Given the description of an element on the screen output the (x, y) to click on. 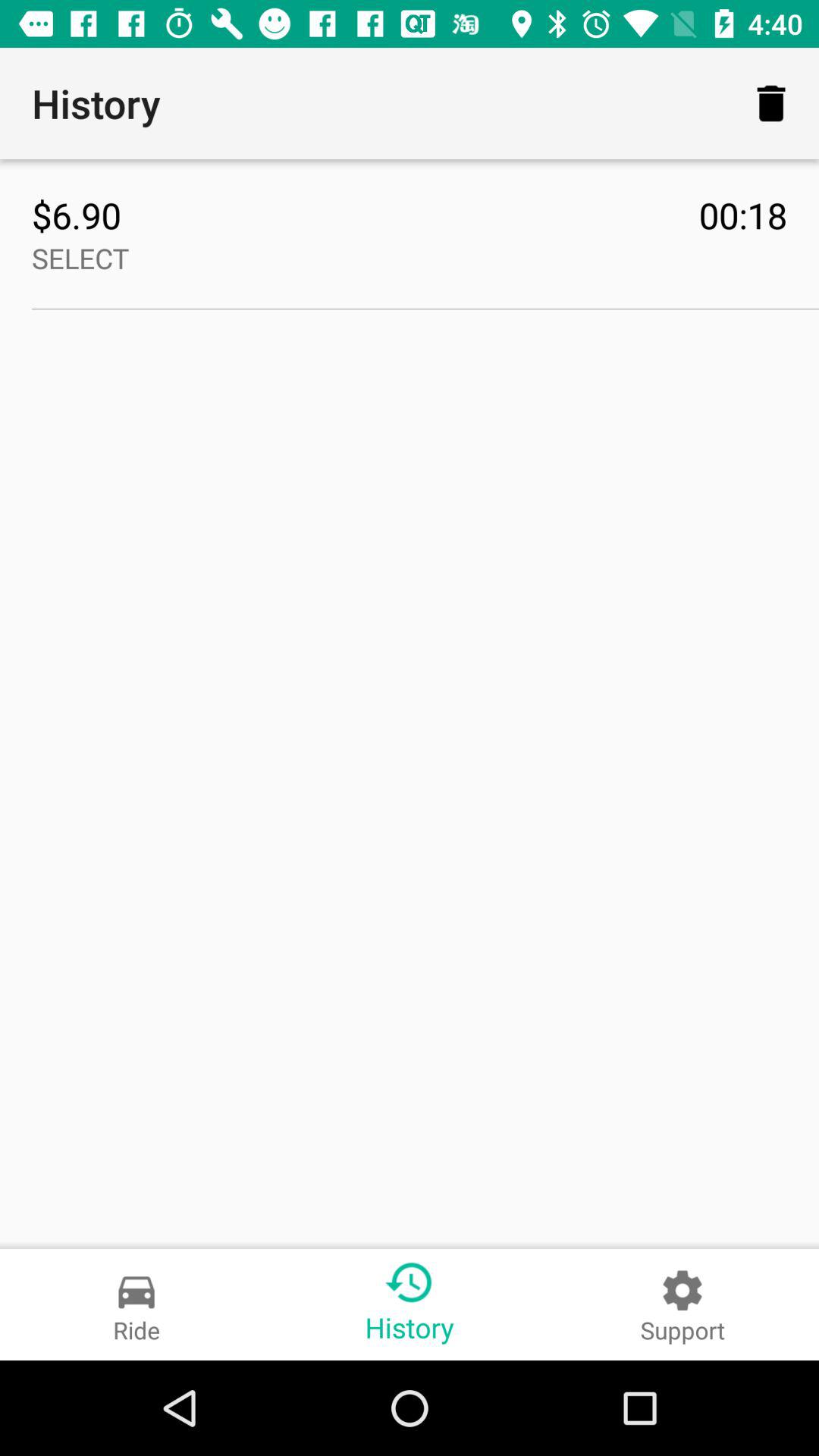
choose the icon next to the history item (771, 103)
